Given the description of an element on the screen output the (x, y) to click on. 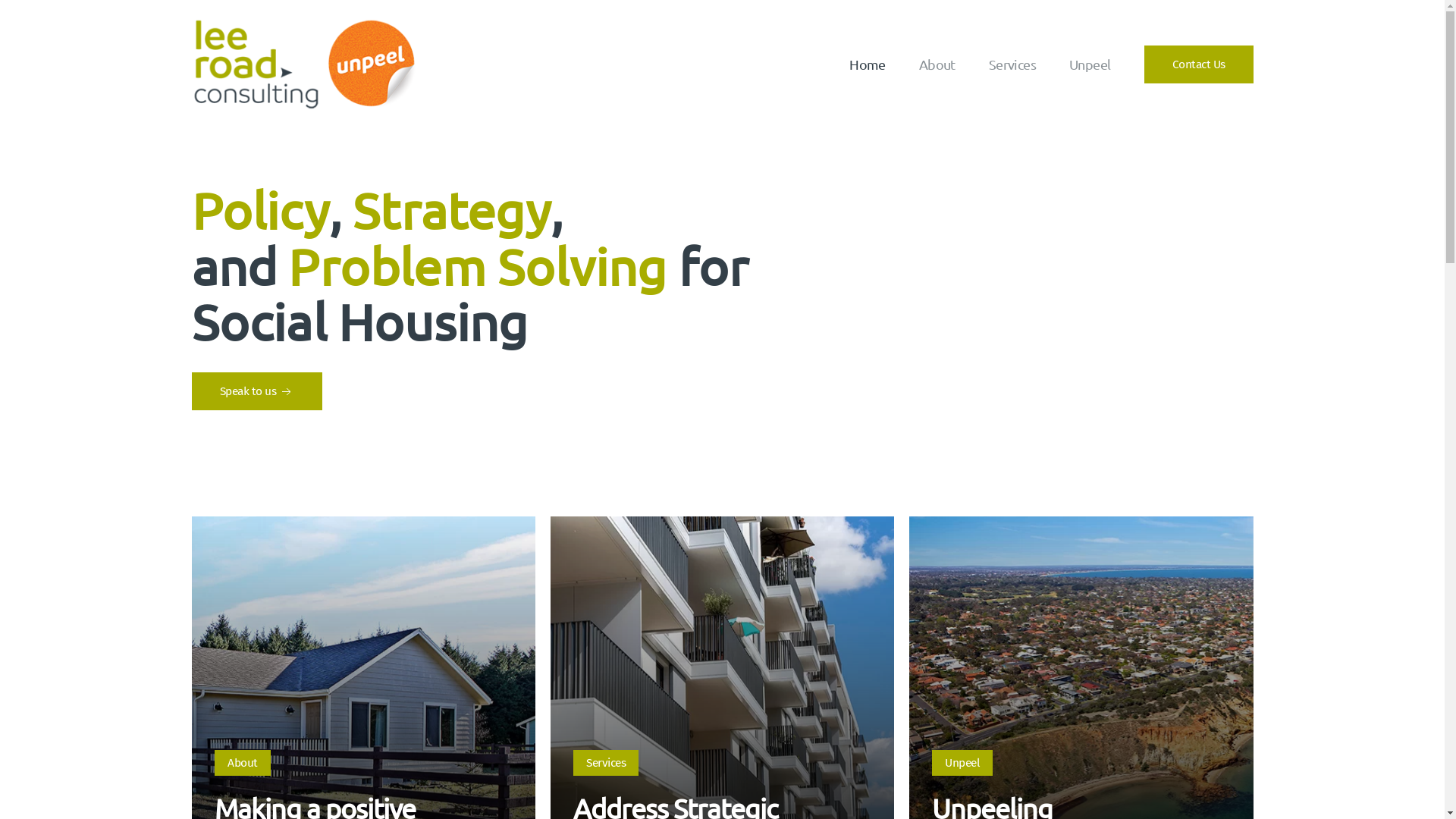
Services Element type: text (605, 762)
Speak to us Element type: text (256, 391)
About Element type: text (242, 762)
About Element type: text (937, 64)
Contact Us Element type: text (1197, 64)
Unpeel Element type: text (961, 762)
About Element type: text (241, 762)
Home Element type: text (867, 64)
Unpeel Element type: text (961, 762)
Unpeel Element type: text (1089, 64)
Services Element type: text (605, 762)
Services Element type: text (1011, 64)
